Given the description of an element on the screen output the (x, y) to click on. 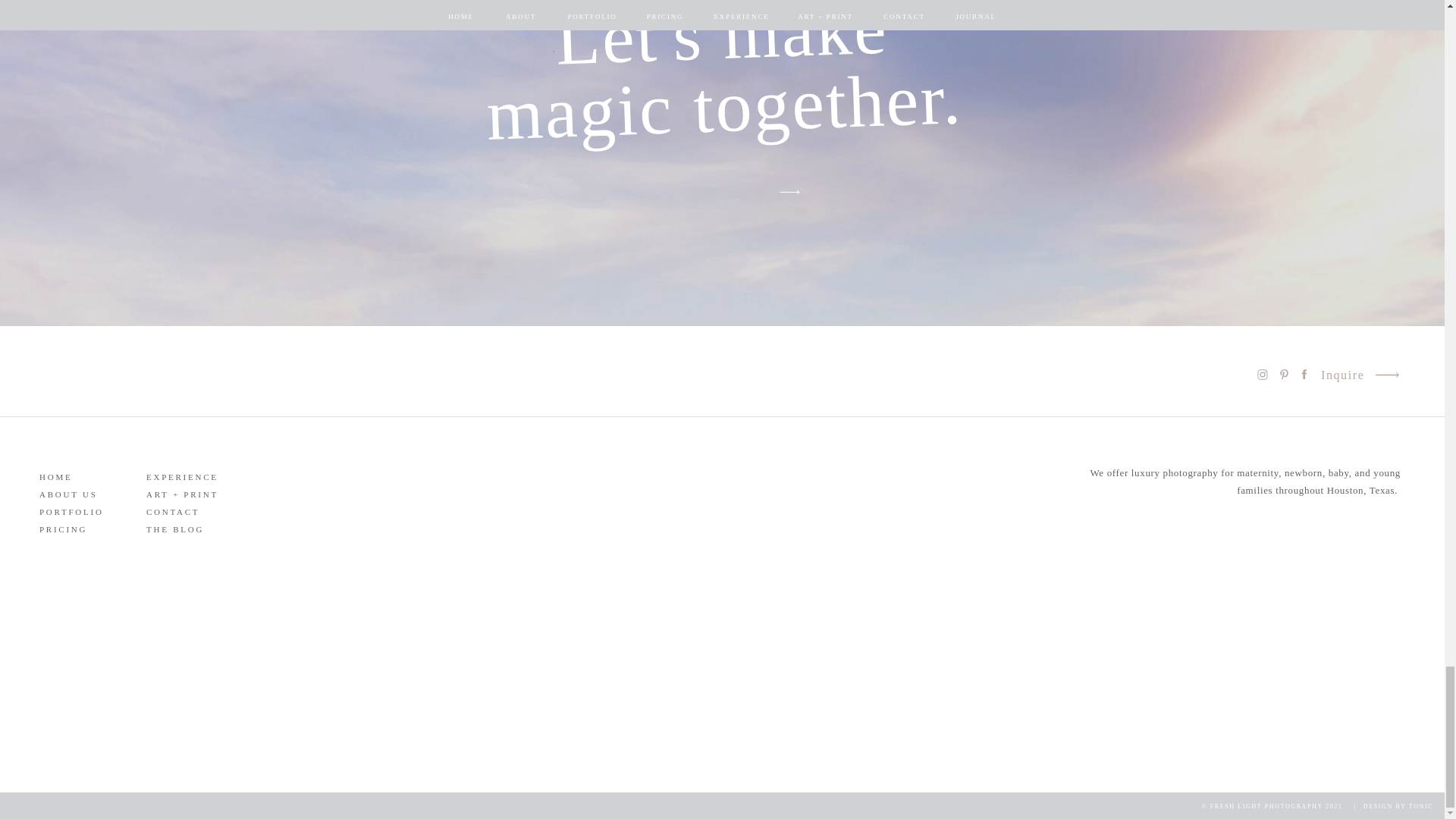
arrow (1386, 374)
arrow (789, 191)
